Given the description of an element on the screen output the (x, y) to click on. 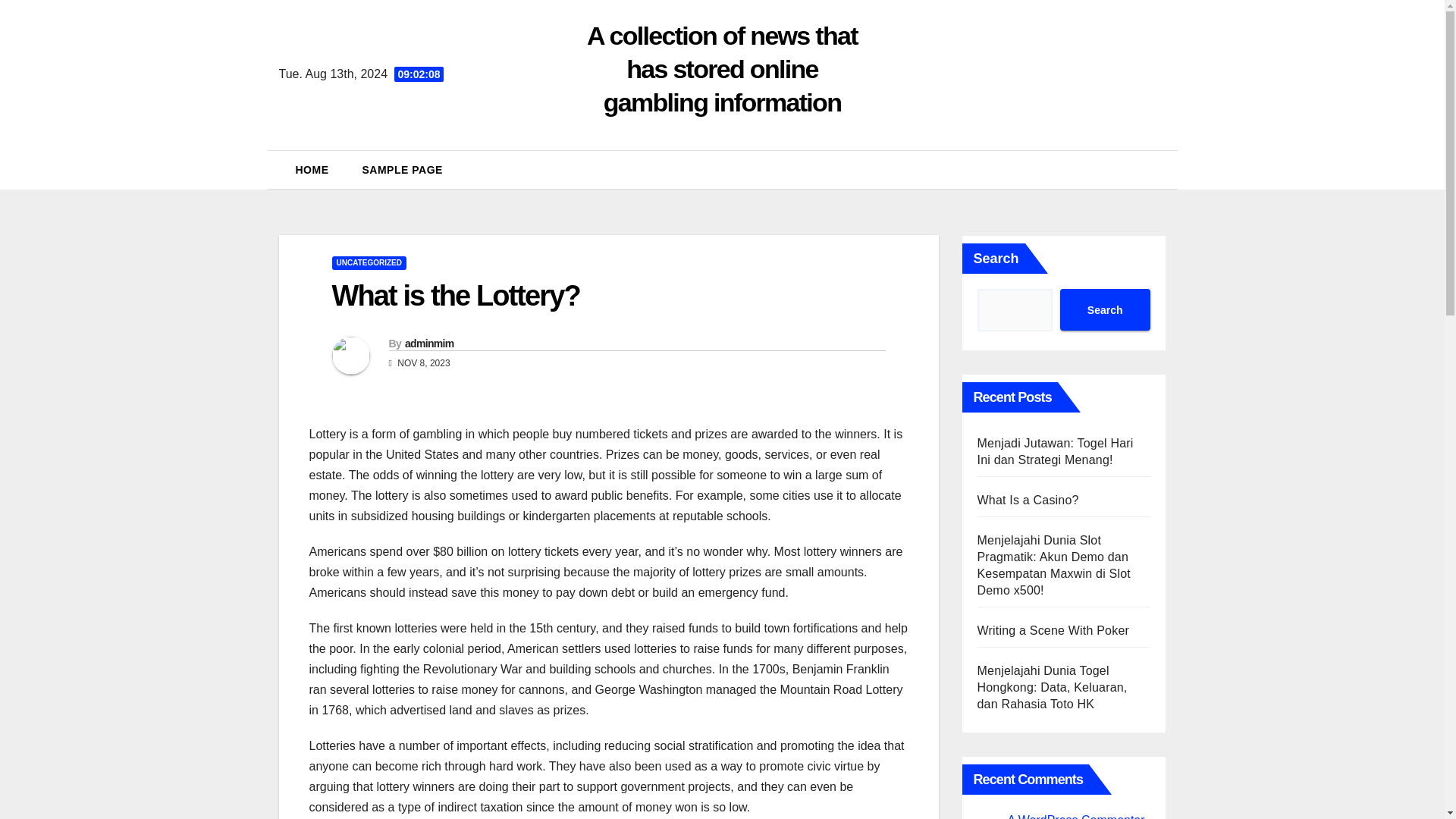
Permalink to: What is the Lottery? (455, 296)
SAMPLE PAGE (403, 169)
What Is a Casino? (1027, 499)
Home (312, 169)
adminmim (428, 343)
UNCATEGORIZED (368, 263)
Search (1104, 309)
Menjadi Jutawan: Togel Hari Ini dan Strategi Menang! (1054, 451)
